Given the description of an element on the screen output the (x, y) to click on. 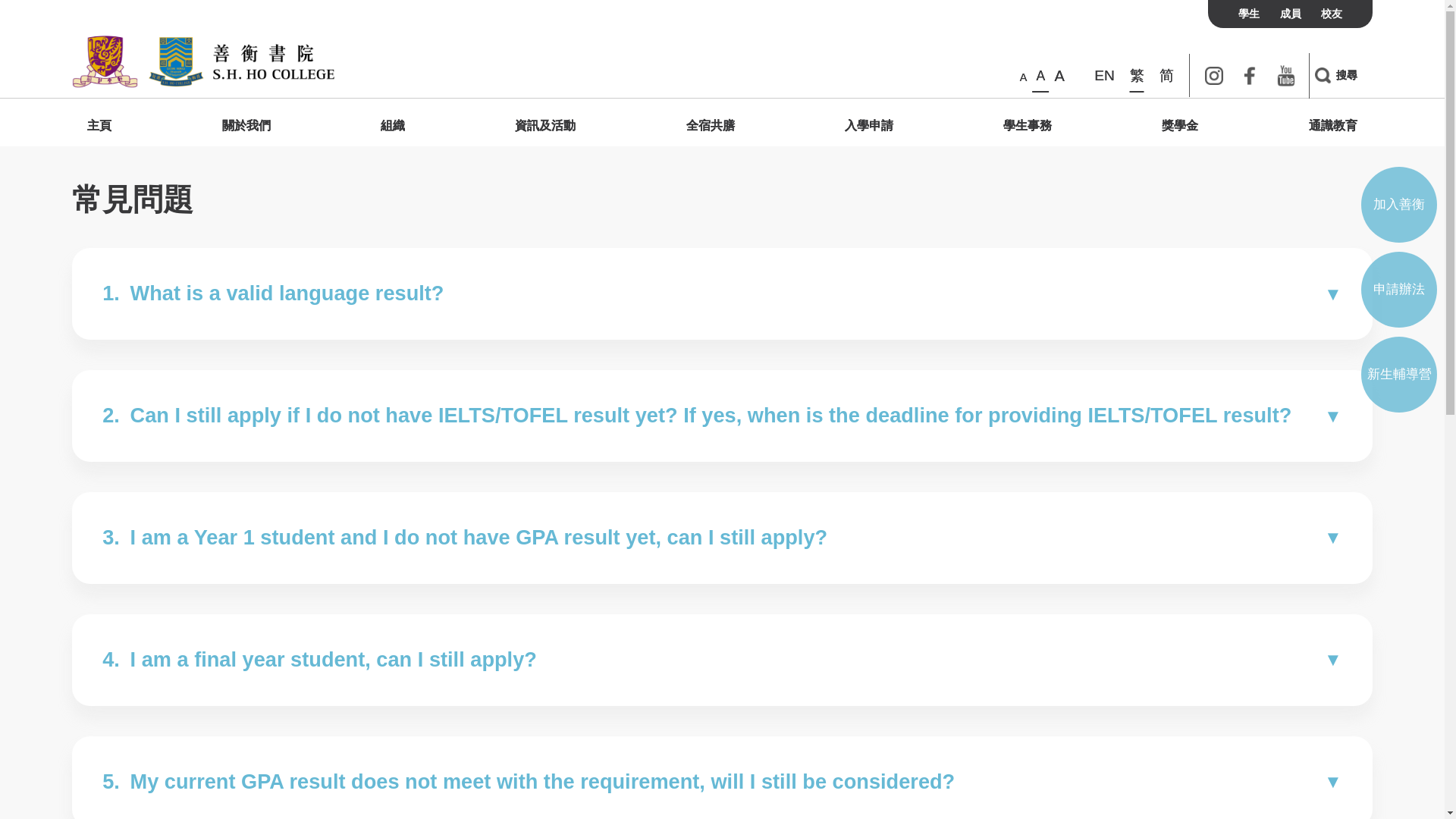
EN (1104, 75)
Facebook (1249, 75)
Youtube (1286, 75)
Instagram (1213, 75)
